Given the description of an element on the screen output the (x, y) to click on. 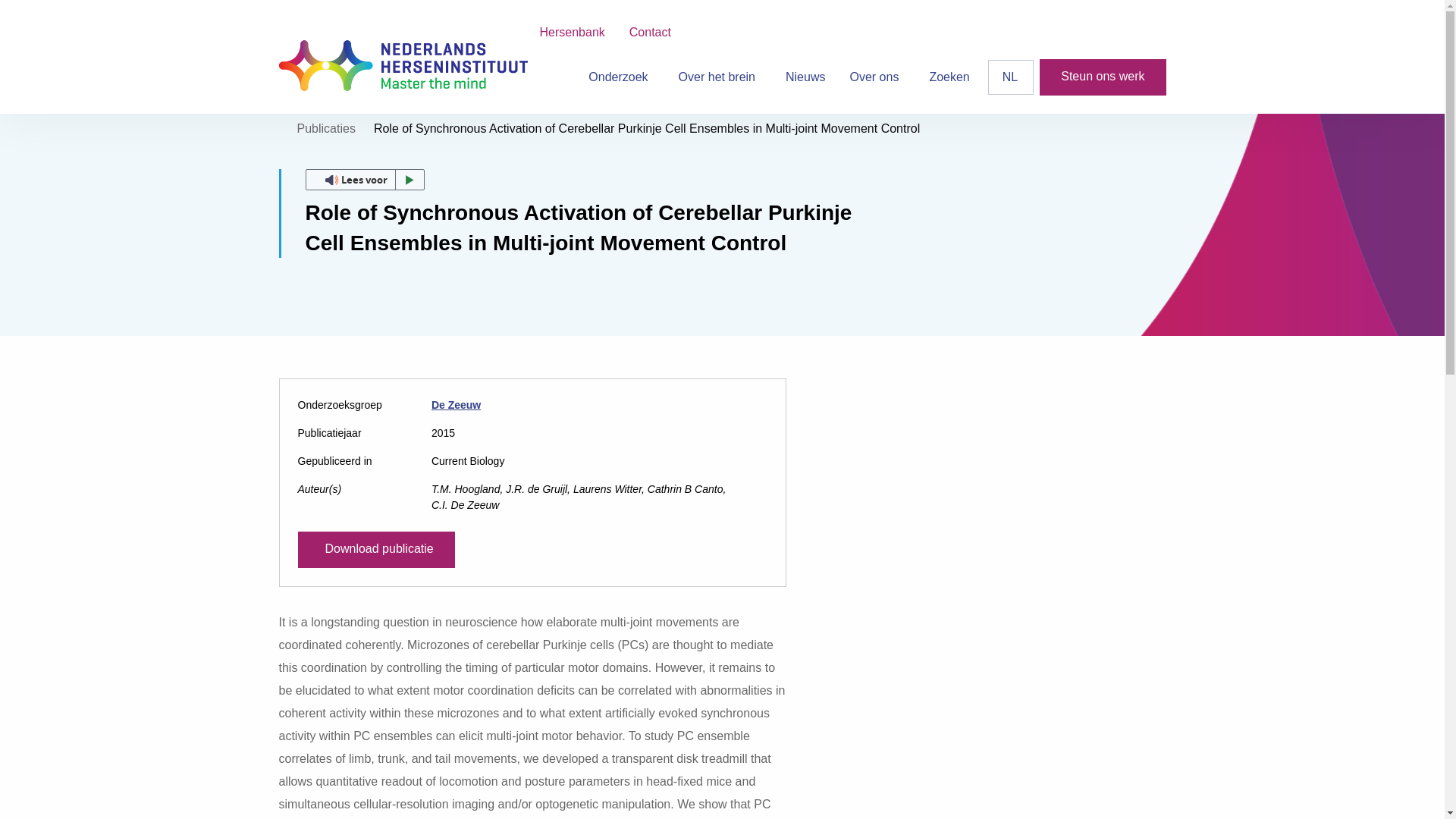
Zoeken (949, 76)
Onderzoek (620, 76)
Nieuws (805, 76)
Ga naar Publicaties. (326, 128)
Contact (649, 32)
Hersenbank (572, 32)
Publicaties (326, 128)
Laat de tekst voorlezen met ReadSpeaker webReader (363, 179)
Over ons (877, 76)
Over het brein (719, 76)
